Given the description of an element on the screen output the (x, y) to click on. 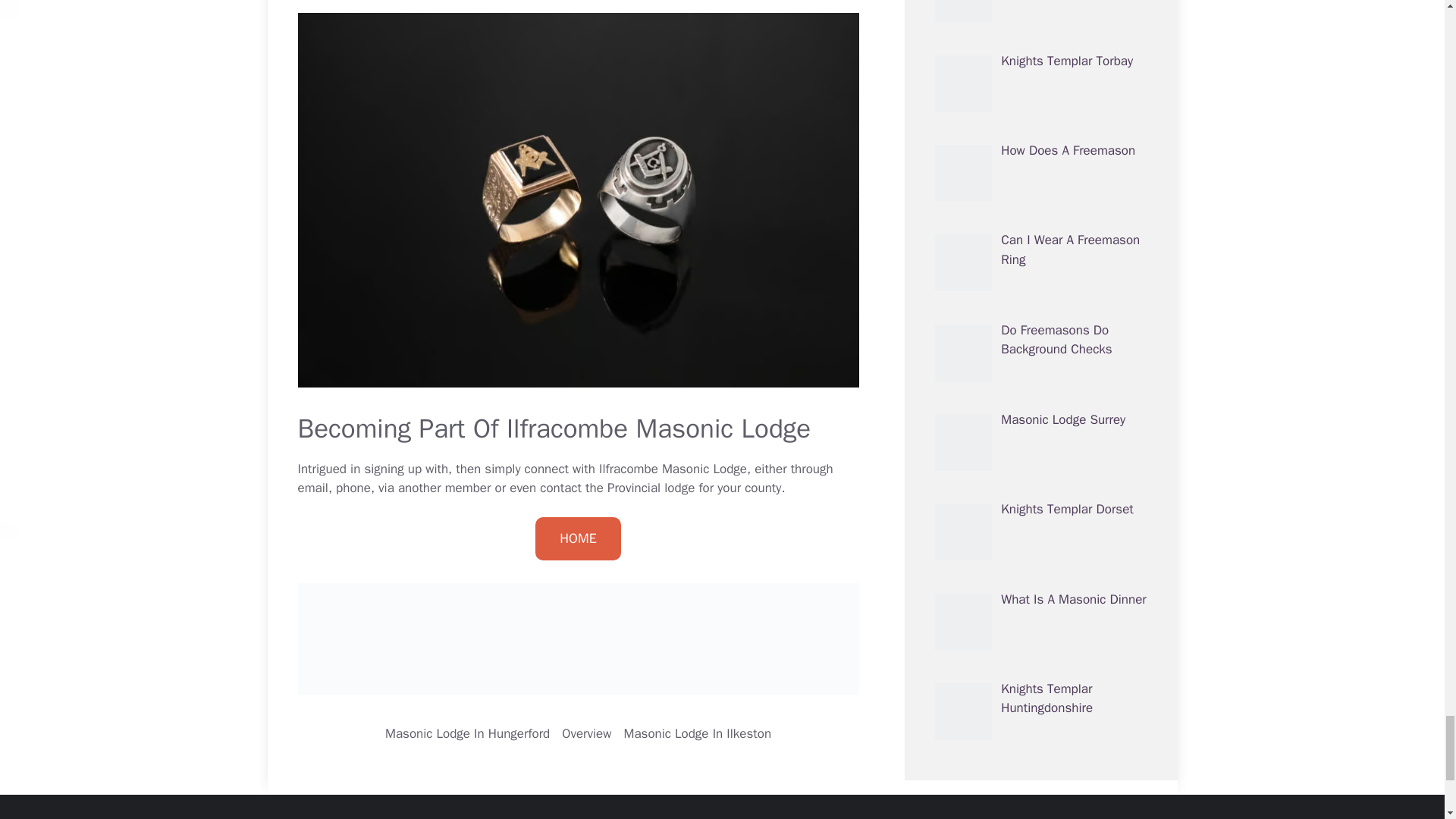
Masonic Lodge In Hungerford (467, 733)
Masonic Lodge In Ilkeston (697, 733)
HOME (578, 538)
Overview (586, 733)
